Given the description of an element on the screen output the (x, y) to click on. 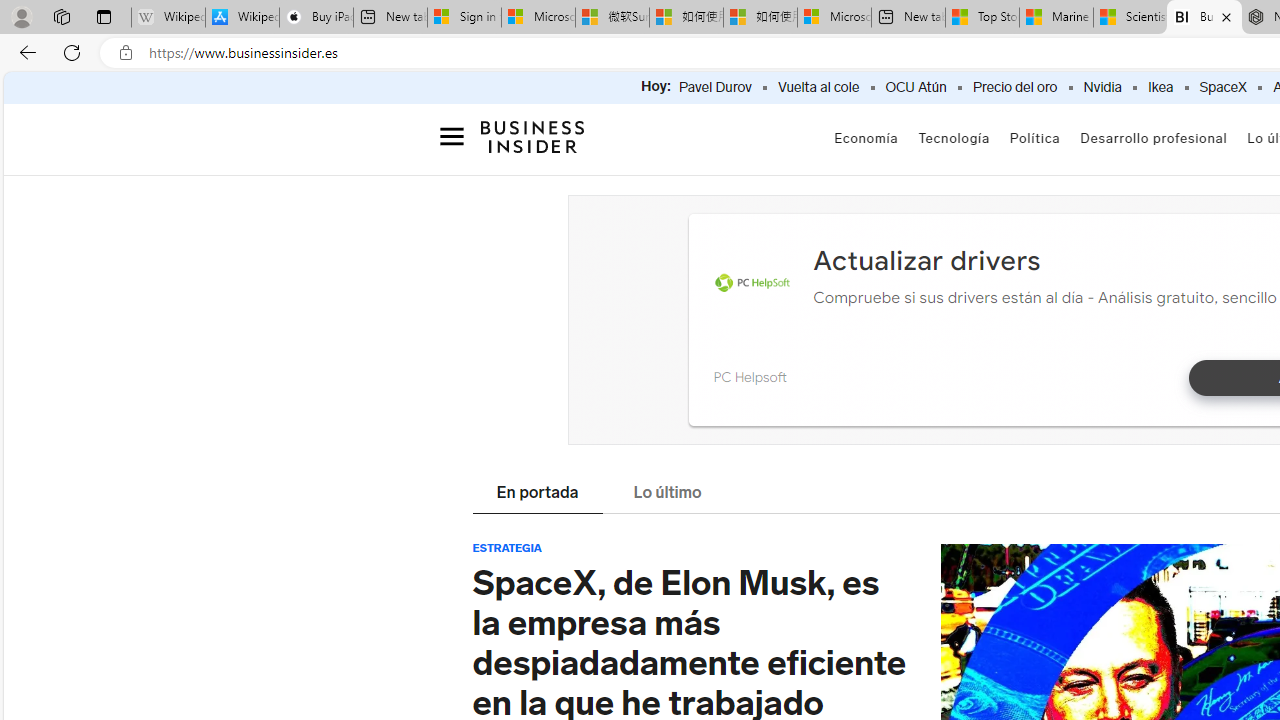
Pavel Durov (715, 88)
Vuelta al cole (818, 88)
Vuelta al cole (818, 88)
Logo BusinessInsider.es (532, 142)
SpaceX (1222, 88)
Actualizar drivers (925, 260)
PC Helpsoft (749, 376)
Desarrollo profesional (1153, 138)
Nvidia (1102, 88)
